Given the description of an element on the screen output the (x, y) to click on. 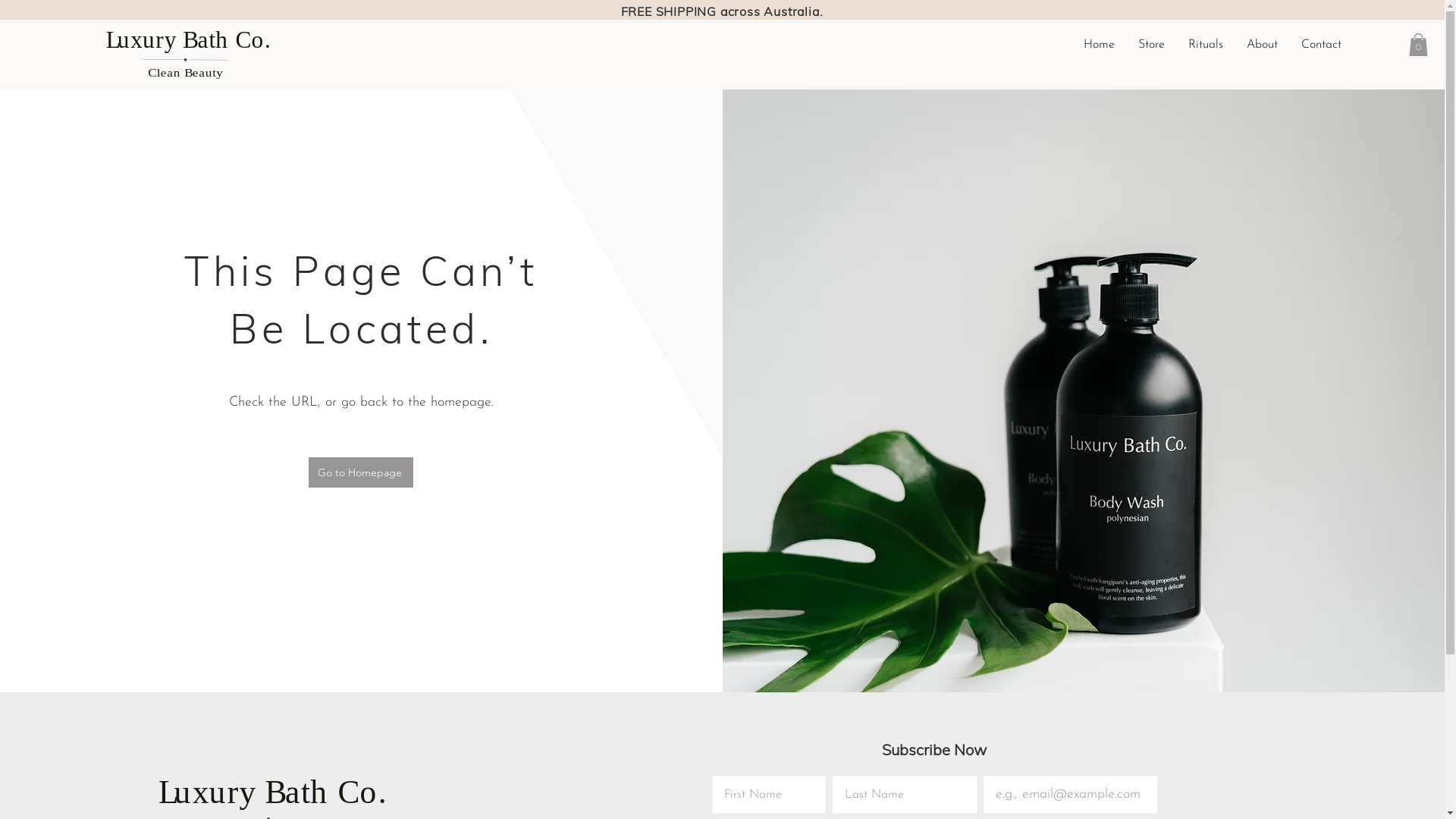
Go to Homepage Element type: text (360, 472)
Store Element type: text (1151, 44)
Luxury Bath Co.
Clean Beauty Element type: text (185, 49)
Home Element type: text (1099, 44)
Contact Element type: text (1320, 44)
0 Element type: text (1417, 44)
